Given the description of an element on the screen output the (x, y) to click on. 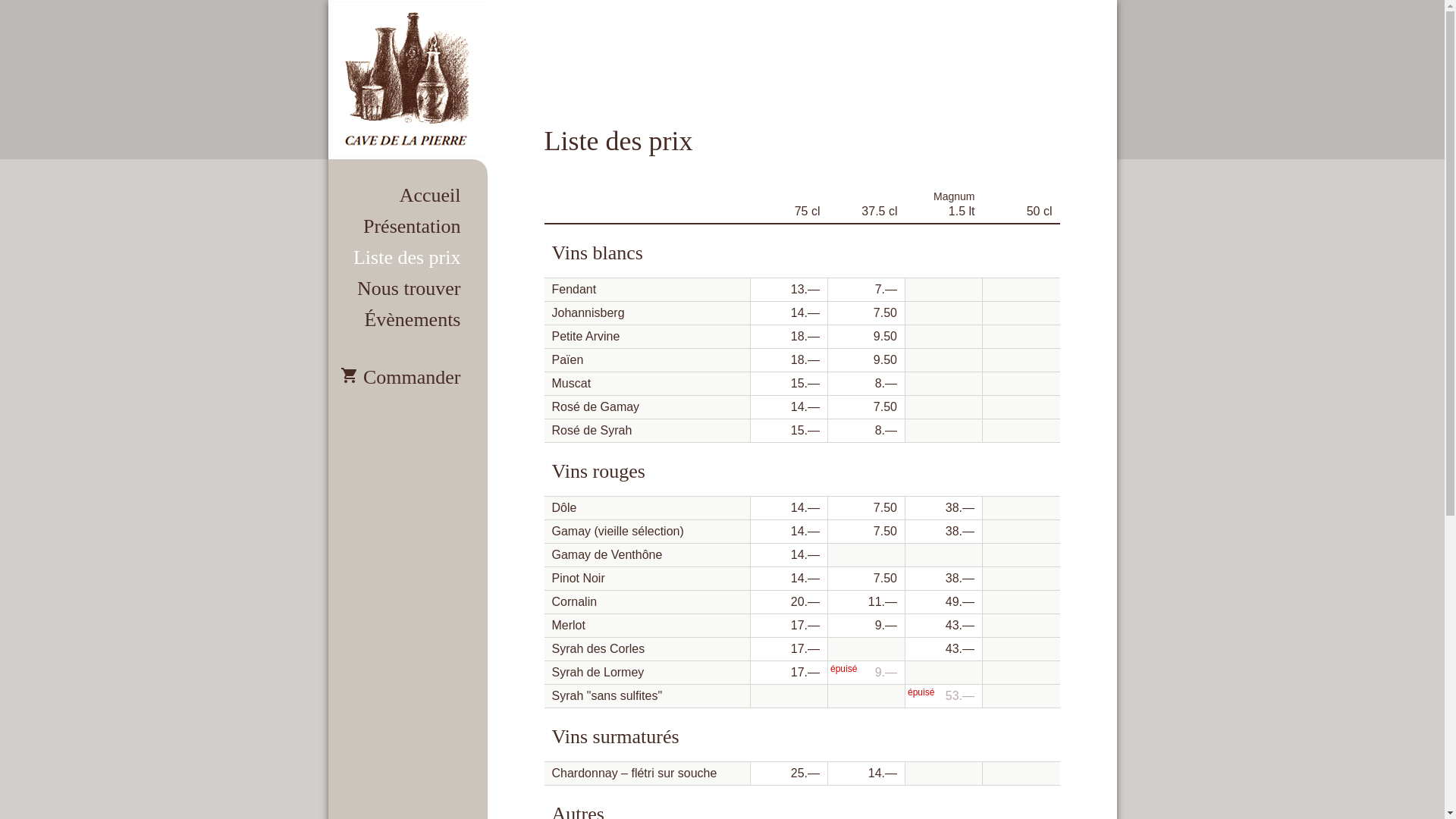
Nous trouver Element type: text (406, 286)
Liste des prix Element type: text (406, 255)
Accueil Element type: text (406, 193)
Commander Element type: text (406, 375)
